Given the description of an element on the screen output the (x, y) to click on. 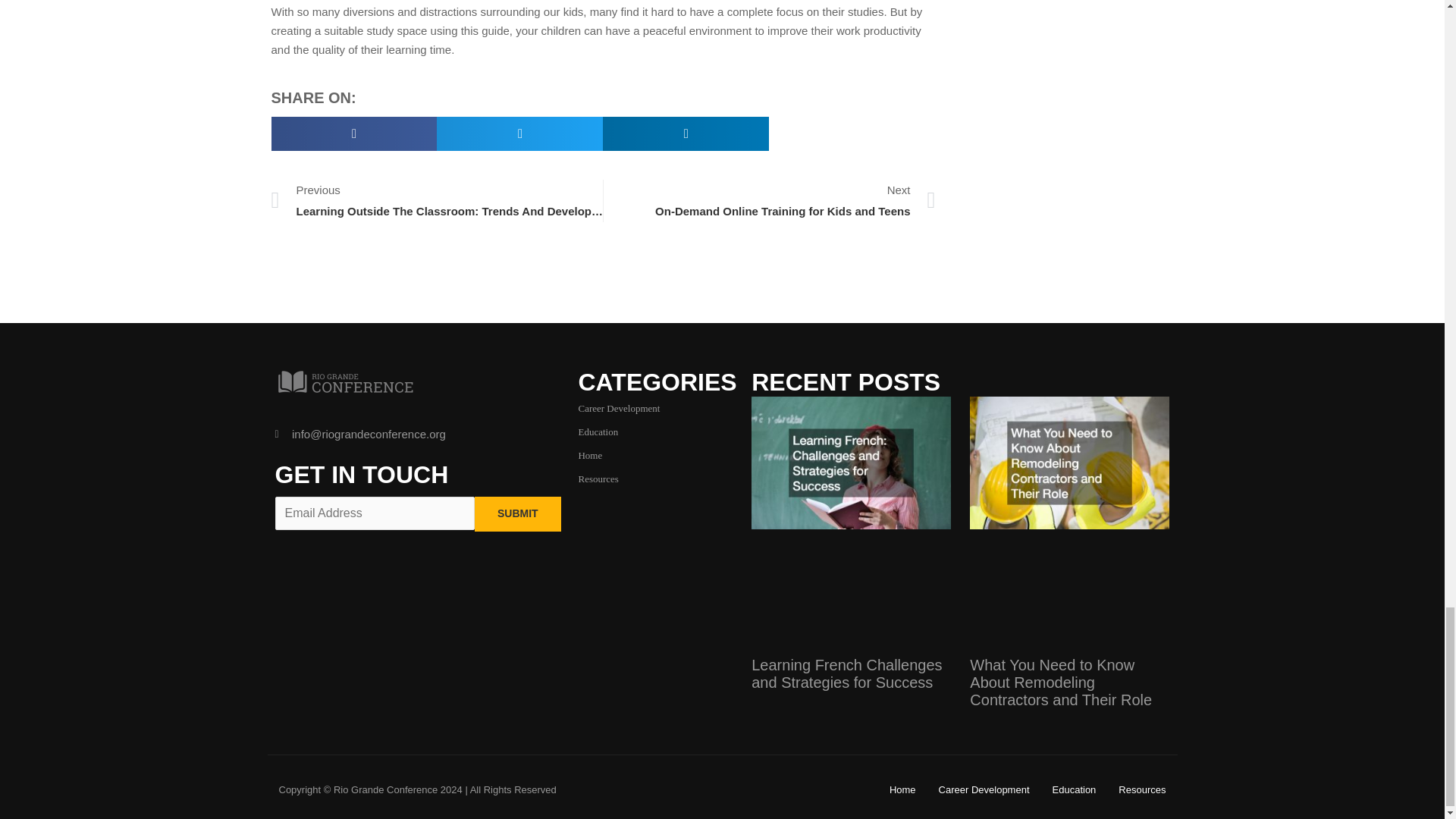
Career Development (618, 408)
Education (769, 200)
Resources (597, 431)
Submit (597, 478)
Submit (517, 513)
Home (517, 513)
riograndeconference-logo (590, 455)
